Given the description of an element on the screen output the (x, y) to click on. 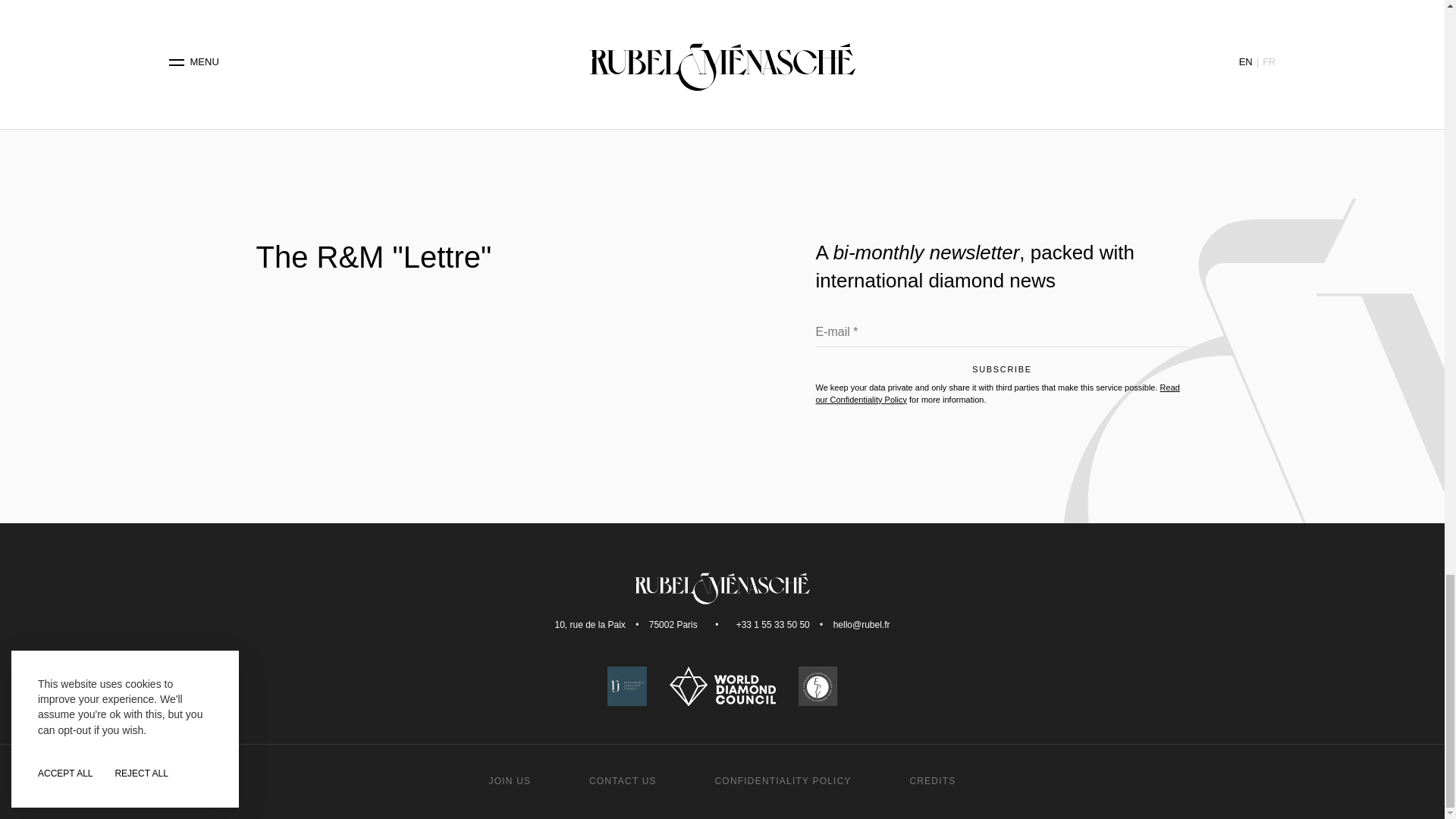
JOIN US (509, 780)
CONFIDENTIALITY POLICY (782, 780)
E-mail (1002, 335)
Subscribe (1002, 373)
Read our Confidentiality Policy (997, 393)
CREDITS (931, 780)
CONTACT US (622, 780)
Subscribe (1002, 373)
